Given the description of an element on the screen output the (x, y) to click on. 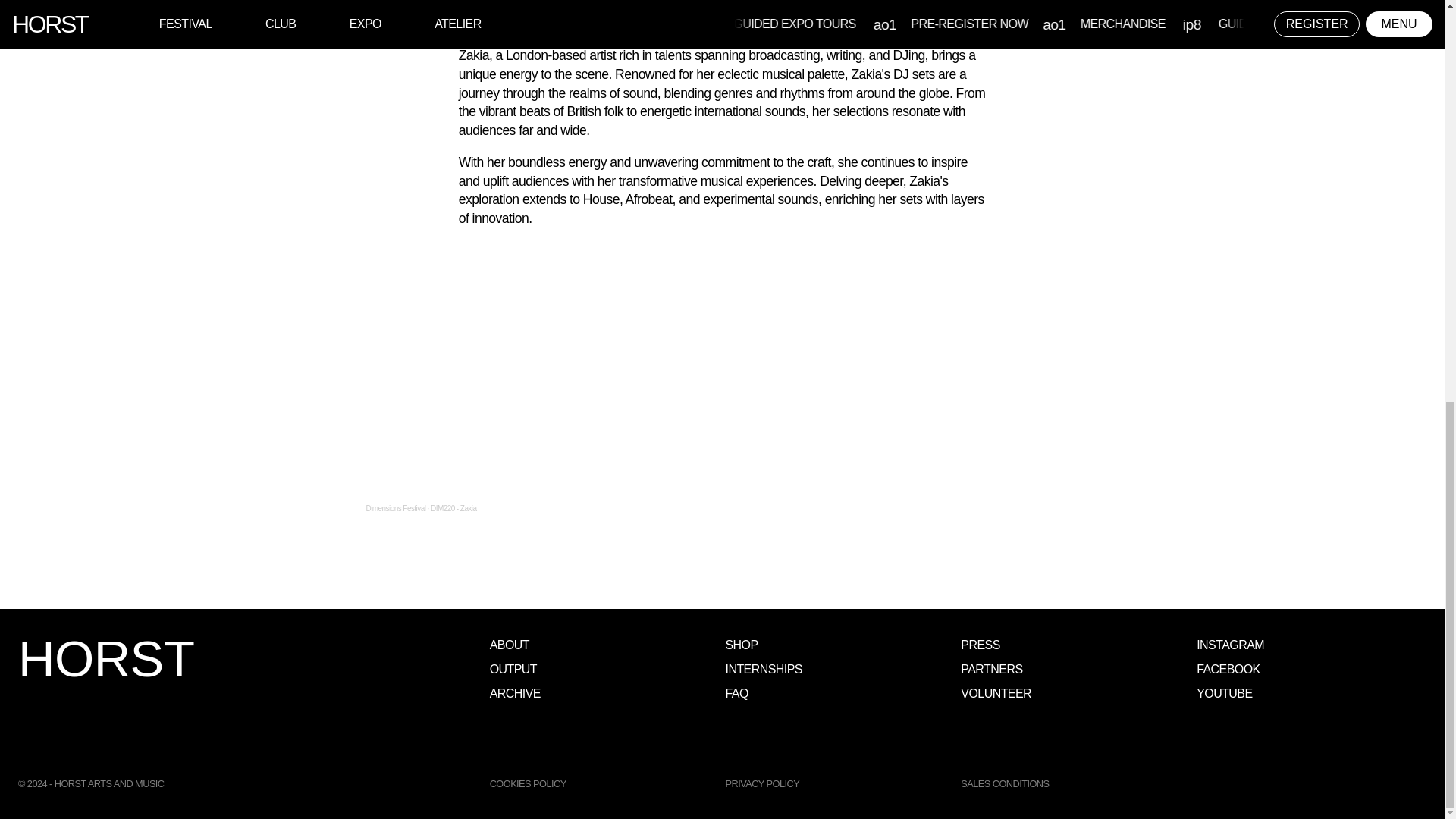
DIM220 - Zakia (453, 508)
Dimensions Festival (395, 508)
